Given the description of an element on the screen output the (x, y) to click on. 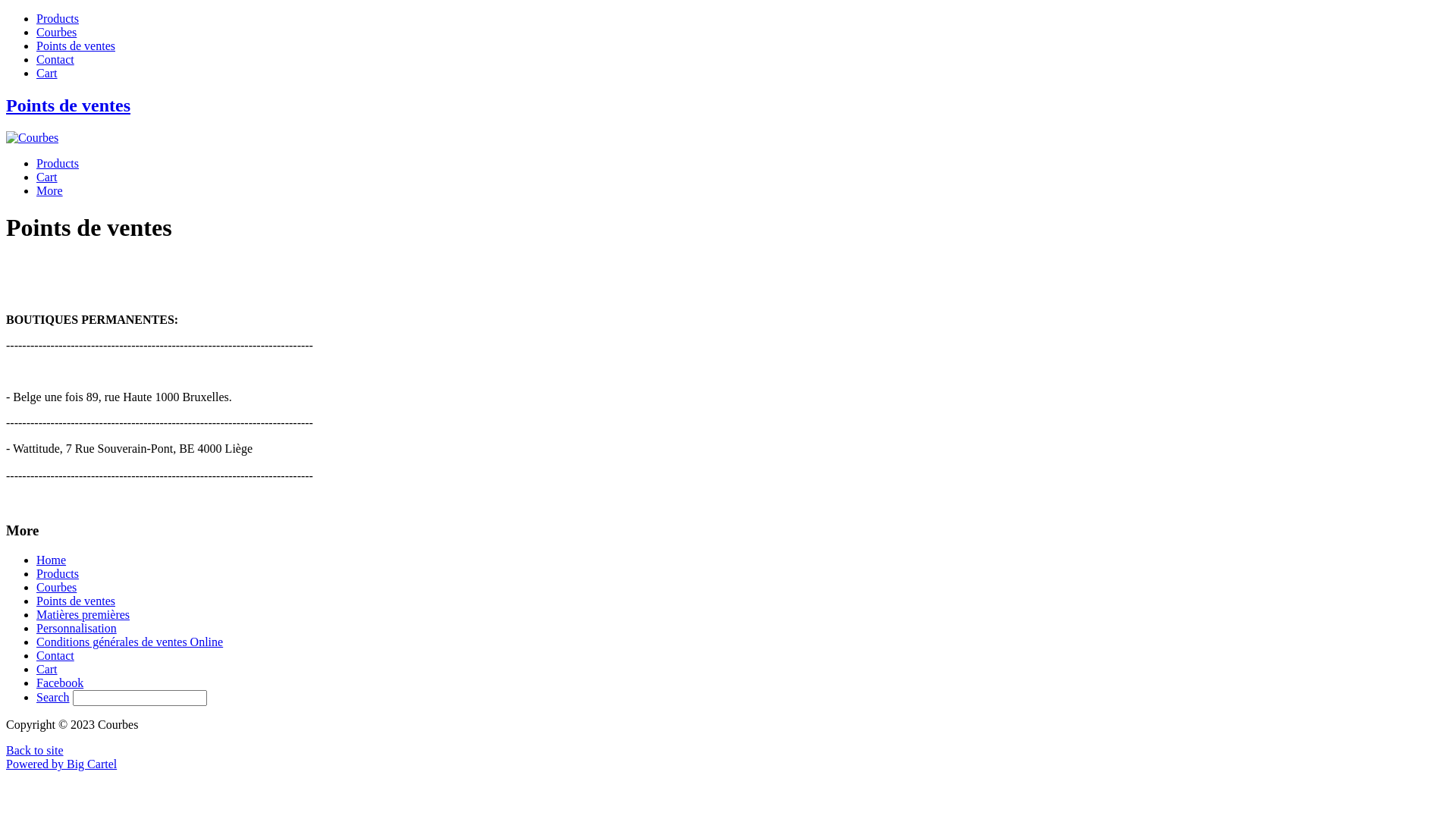
More Element type: text (49, 190)
Powered by Big Cartel Element type: text (61, 763)
Search Element type: text (52, 696)
Cart Element type: text (46, 72)
Products Element type: text (57, 162)
Products Element type: text (57, 573)
Points de ventes Element type: text (727, 119)
Points de ventes Element type: text (75, 45)
Courbes Element type: text (56, 586)
Contact Element type: text (55, 59)
Back to site Element type: text (34, 749)
Personnalisation Element type: text (76, 627)
Cart Element type: text (46, 668)
Points de ventes Element type: text (75, 600)
Cart Element type: text (46, 176)
Products Element type: text (57, 18)
Courbes Element type: text (56, 31)
Home Element type: text (50, 559)
Facebook Element type: text (59, 682)
Contact Element type: text (55, 655)
